Given the description of an element on the screen output the (x, y) to click on. 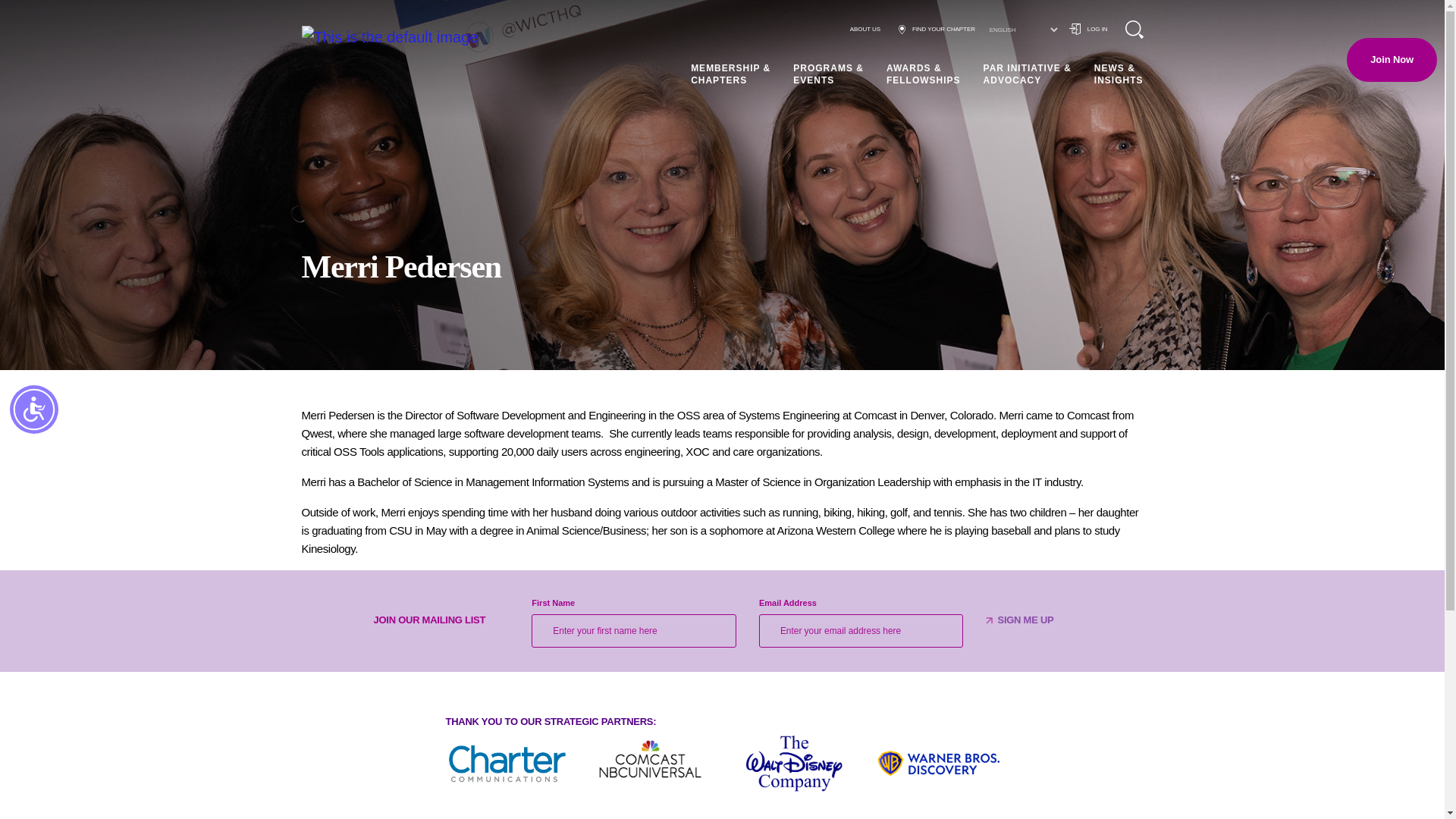
Find Your Chapter (936, 29)
LOG IN (1088, 29)
FIND YOUR CHAPTER (936, 29)
About Us (865, 29)
Join Now (1391, 59)
Skip to main content (24, 16)
Sign Me up (1024, 620)
Accessibility Menu (34, 409)
ABOUT US (865, 29)
